Given the description of an element on the screen output the (x, y) to click on. 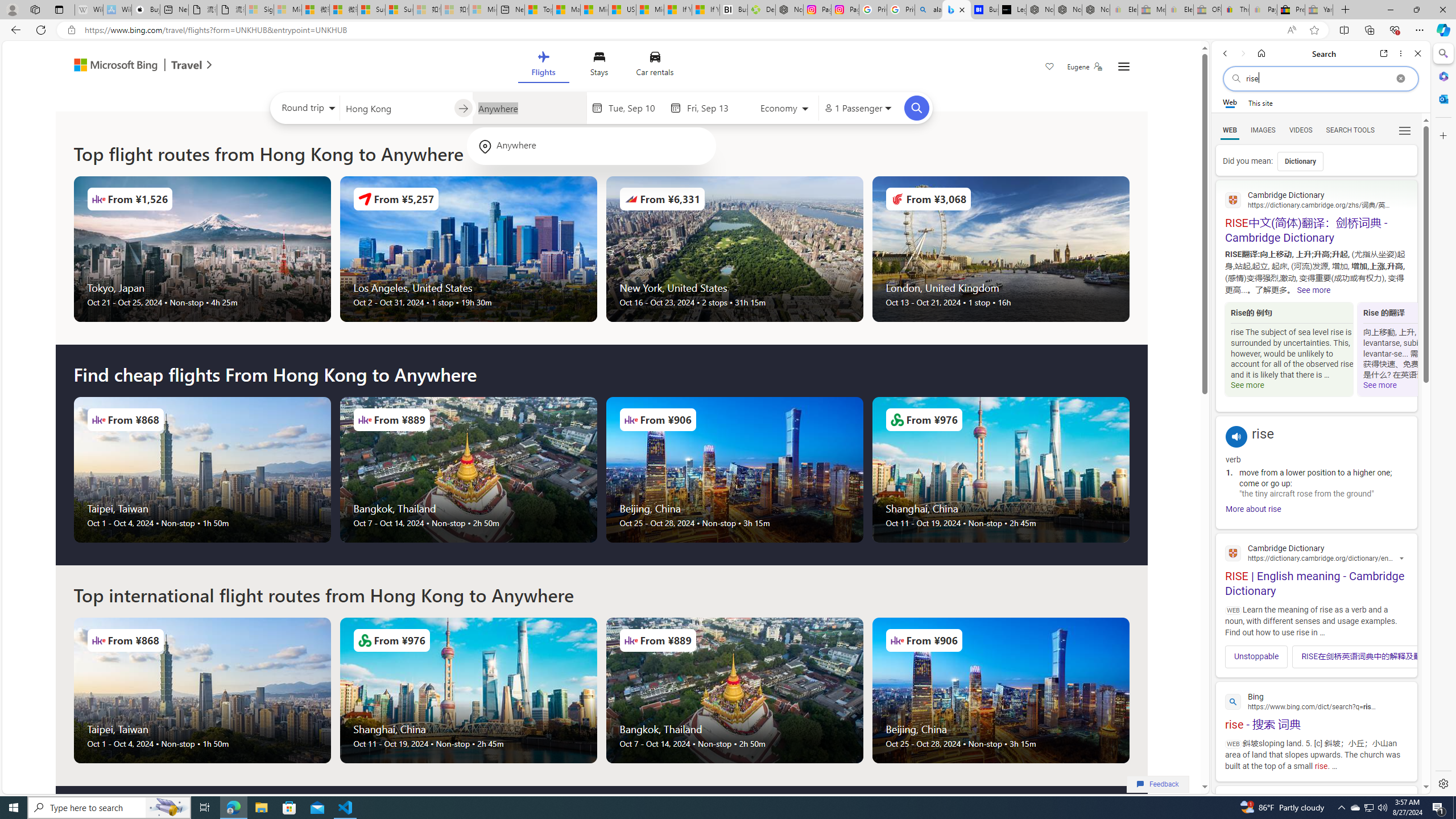
Eugene (1084, 66)
alabama high school quarterback dies - Search (928, 9)
Car rentals (654, 65)
Unstoppable (1256, 656)
1 Passenger (857, 108)
